Given the description of an element on the screen output the (x, y) to click on. 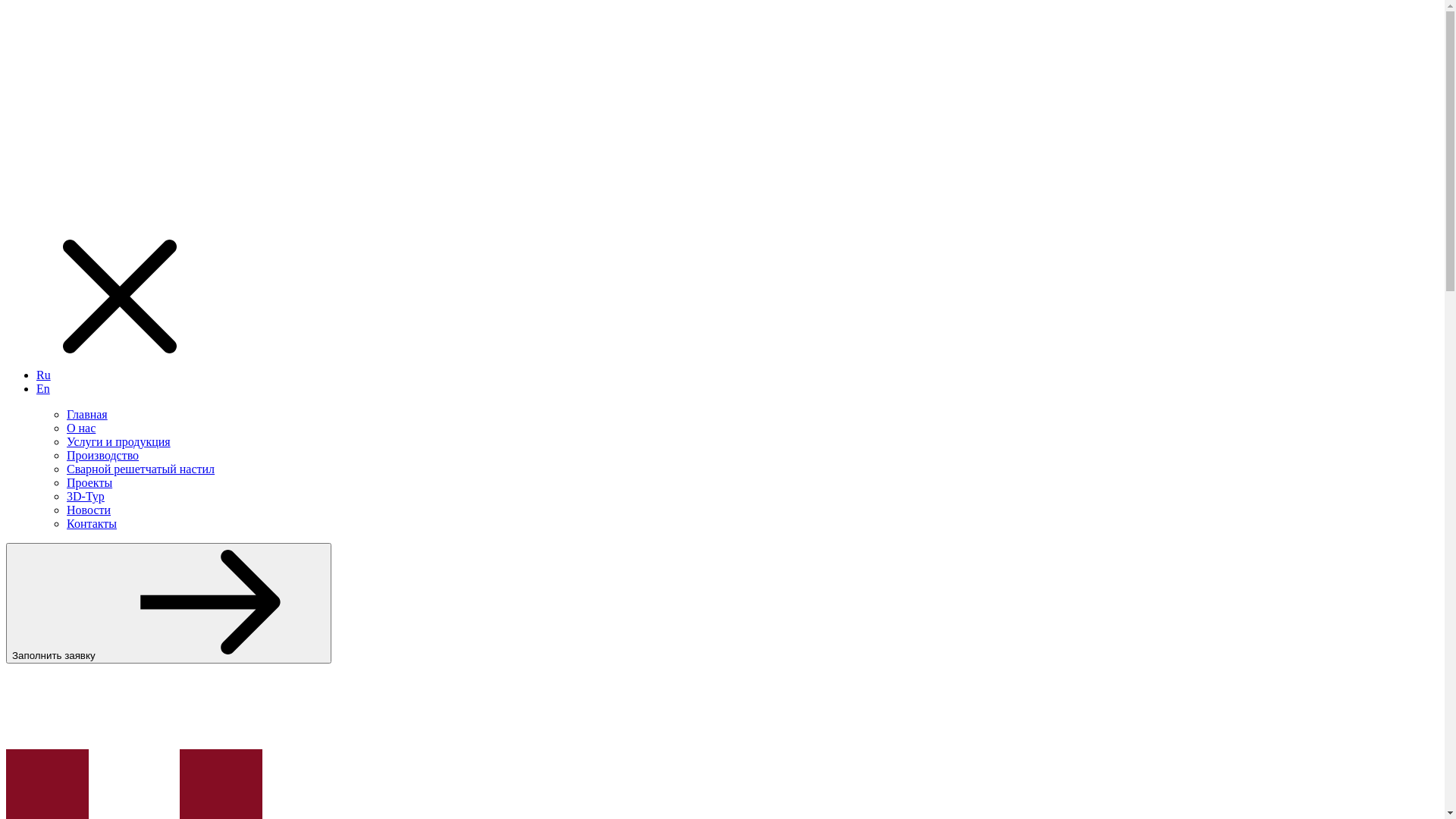
Ru Element type: text (43, 374)
En Element type: text (43, 388)
